Given the description of an element on the screen output the (x, y) to click on. 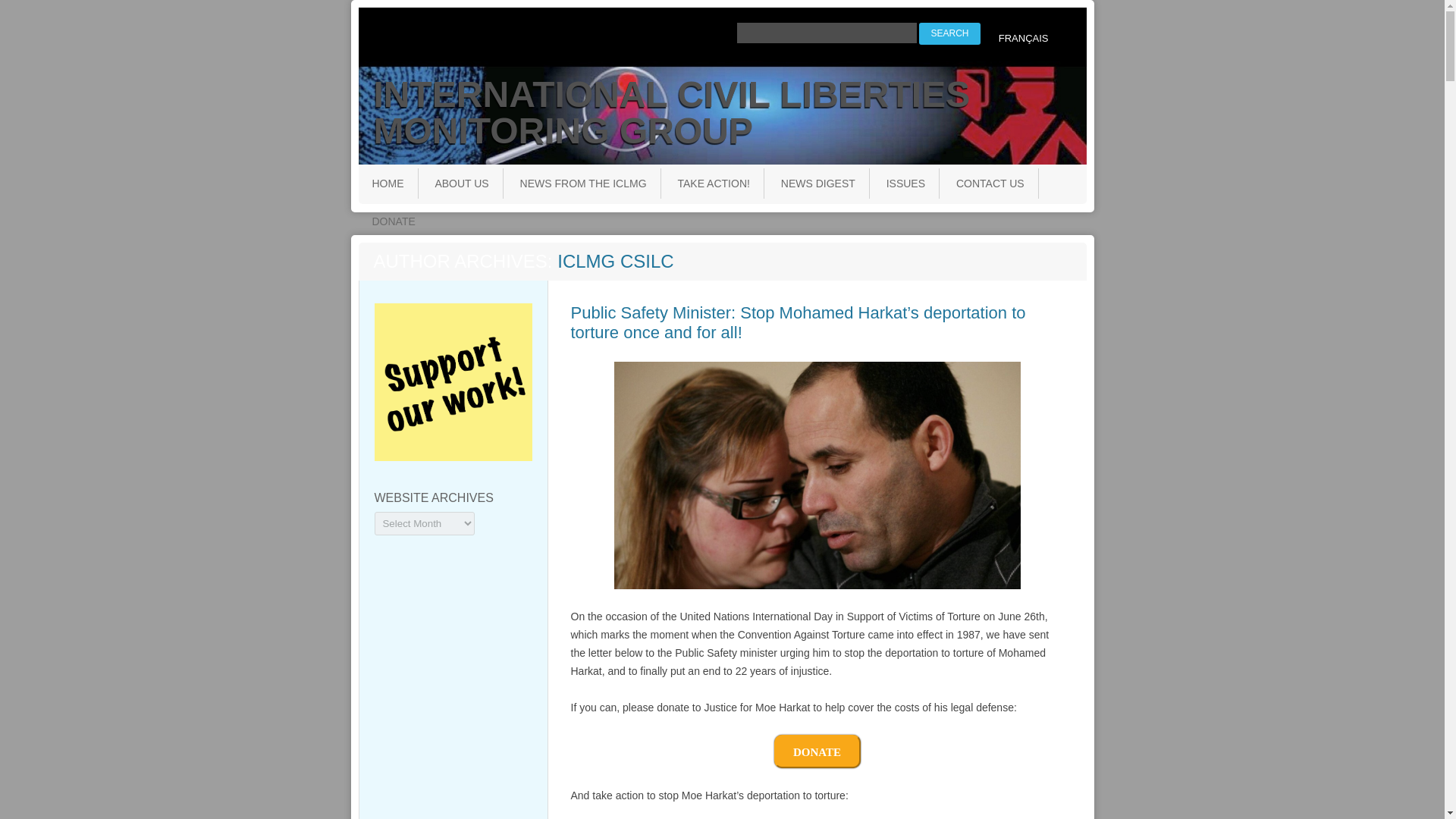
HOME (387, 183)
INTERNATIONAL CIVIL LIBERTIES MONITORING GROUP (729, 112)
Search (948, 33)
ABOUT US (460, 183)
ICLMG CSILC (614, 260)
ABOUT THE ICLMG (508, 215)
TAKE ACTION! (713, 183)
NEWS FROM THE ICLMG (582, 183)
ISSUES (905, 183)
Search (948, 33)
International Civil Liberties Monitoring Group (729, 112)
NEWS DIGEST (818, 183)
SOCIAL MEDIA CHAMPIONS (751, 215)
